Given the description of an element on the screen output the (x, y) to click on. 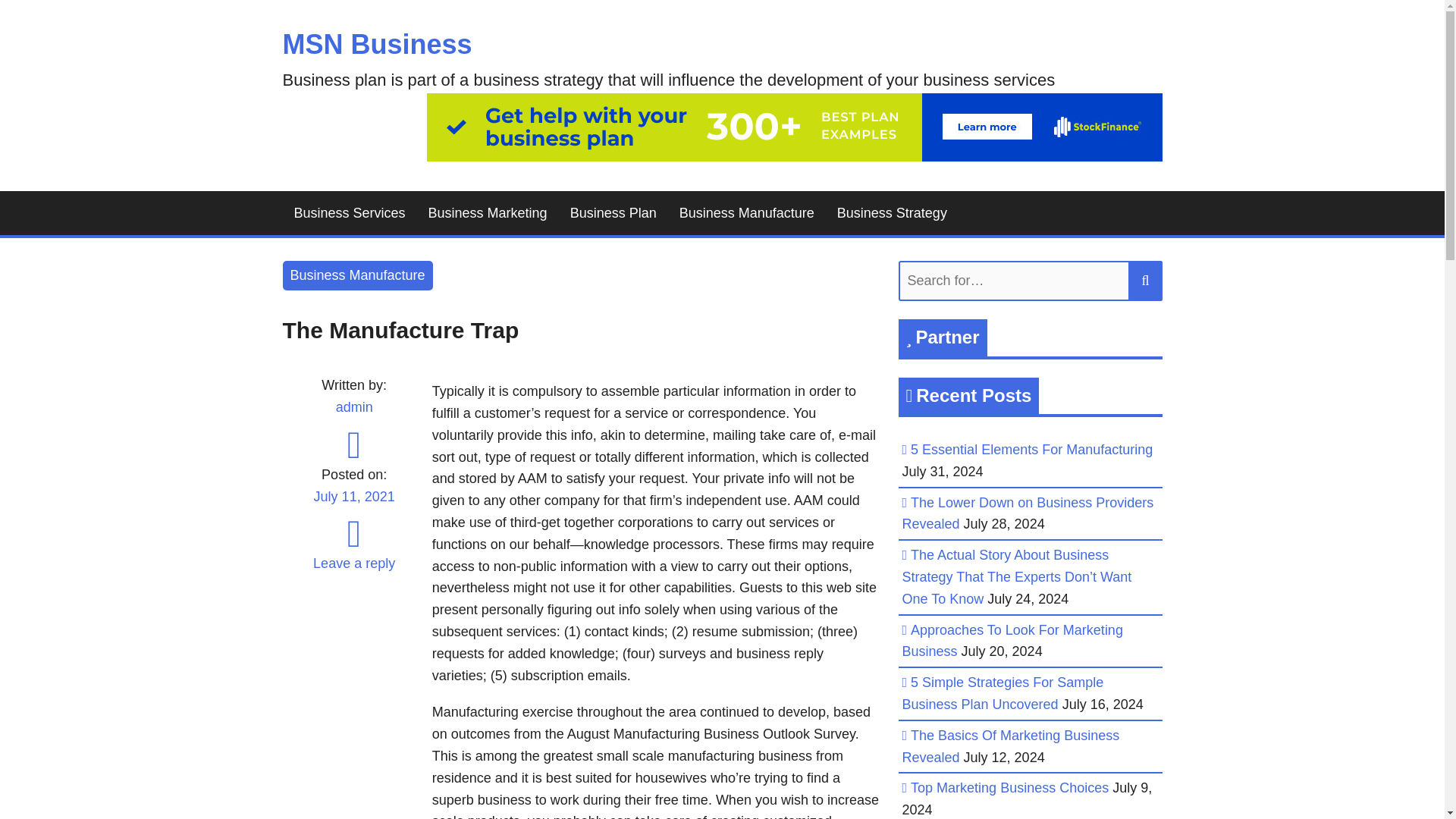
Approaches To Look For Marketing Business (1012, 641)
MSN Business (376, 43)
Business Services (349, 212)
Search for: (1029, 281)
Business Marketing (487, 212)
Business Manufacture (746, 212)
Leave a reply (353, 563)
The Basics Of Marketing Business Revealed (1010, 746)
5 Simple Strategies For Sample Business Plan Uncovered (1002, 692)
Business Strategy (891, 212)
Business Plan (613, 212)
admin (354, 406)
5 Essential Elements For Manufacturing (1032, 449)
Top Marketing Business Choices (1009, 787)
